Given the description of an element on the screen output the (x, y) to click on. 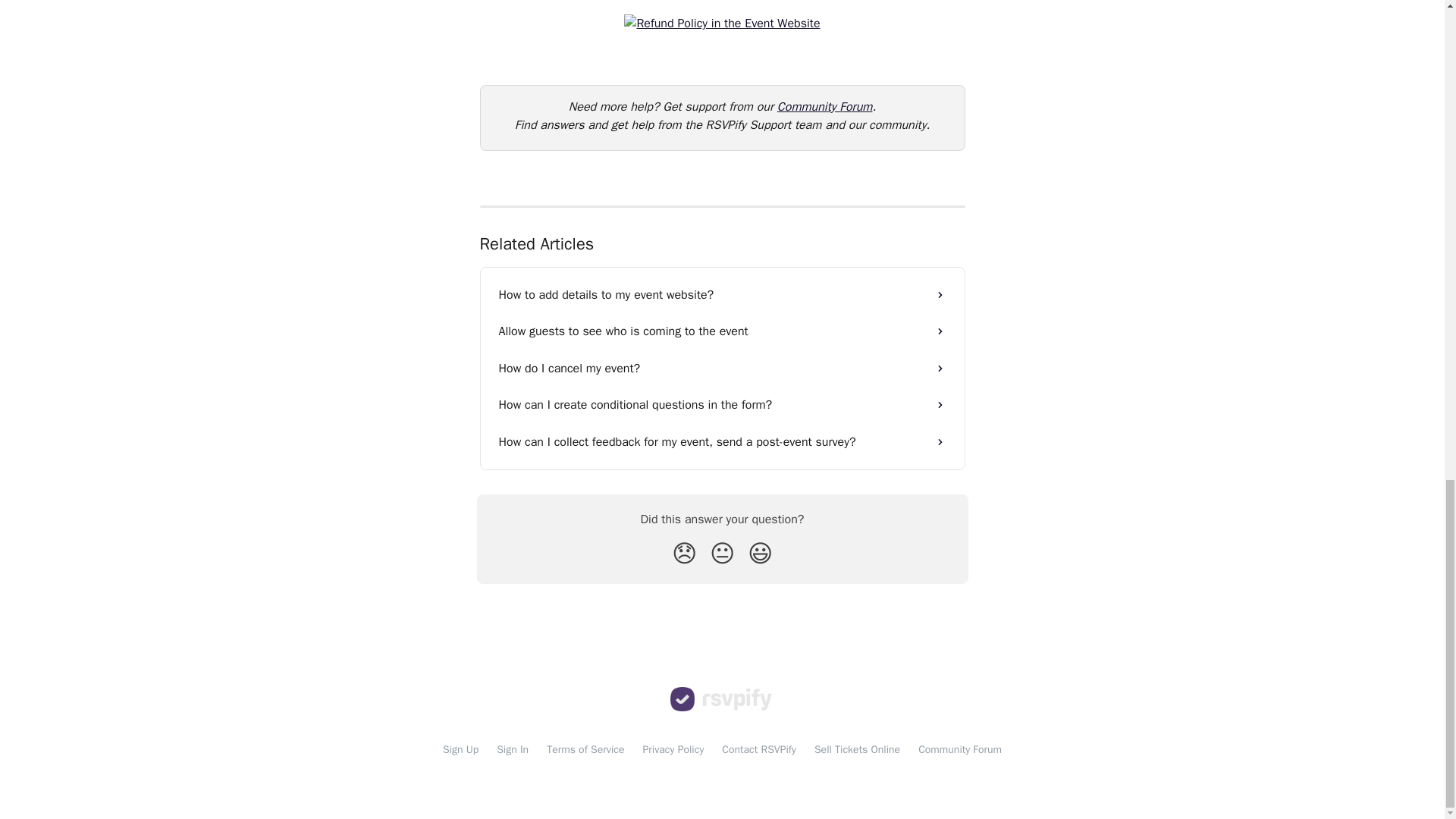
Community Forum (824, 106)
Sell Tickets Online (856, 748)
Sign Up (460, 748)
Contact RSVPify (759, 748)
How do I cancel my event? (722, 368)
Allow guests to see who is coming to the event (722, 330)
Community Forum (959, 748)
Sign In (512, 748)
How can I create conditional questions in the form? (722, 404)
